Given the description of an element on the screen output the (x, y) to click on. 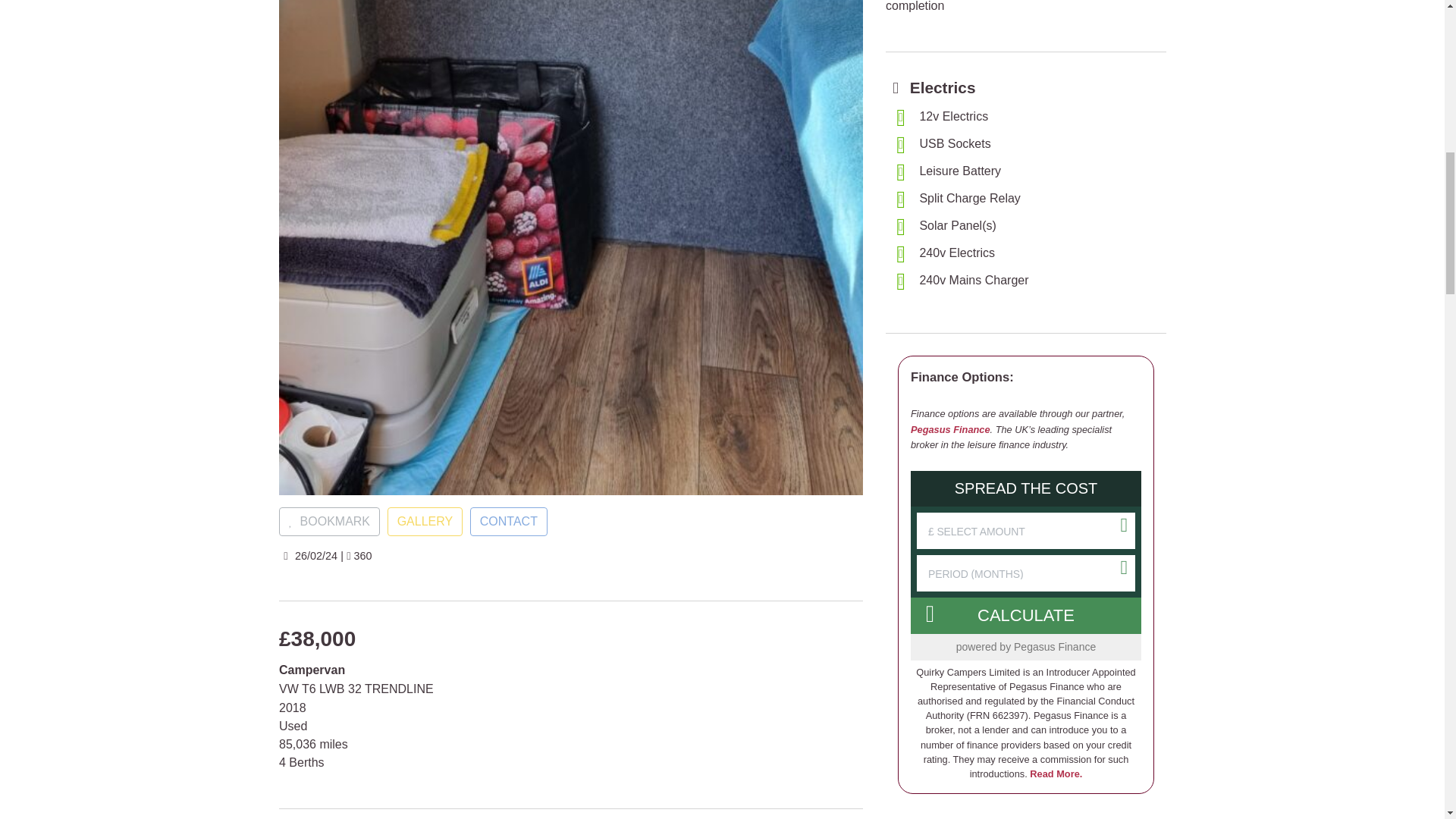
360 views (358, 555)
